Given the description of an element on the screen output the (x, y) to click on. 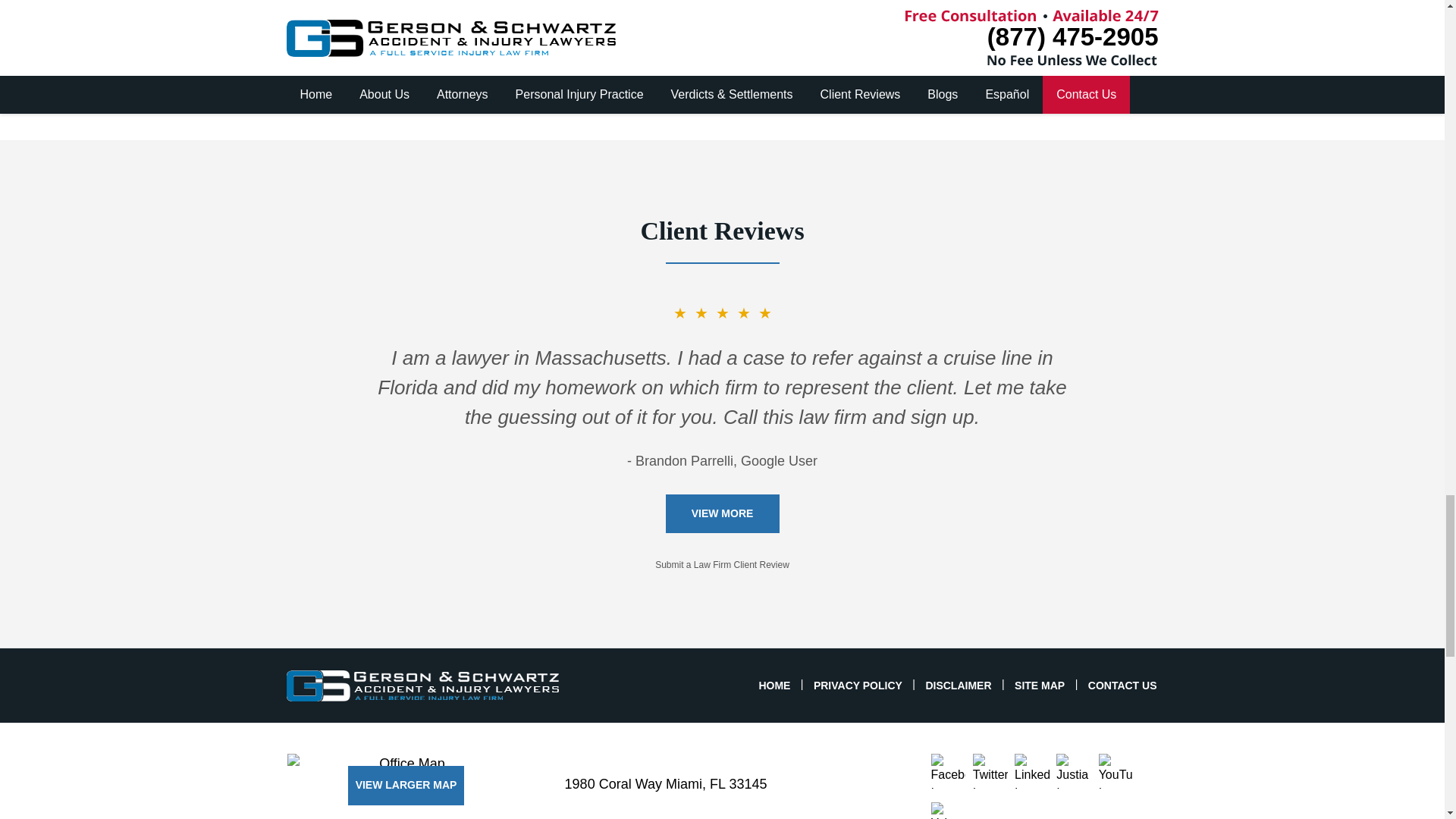
YouTube (1116, 770)
Yelp (948, 810)
LinkedIn (1031, 770)
Twitter (989, 770)
Facebook (948, 770)
Justia (1073, 770)
